Given the description of an element on the screen output the (x, y) to click on. 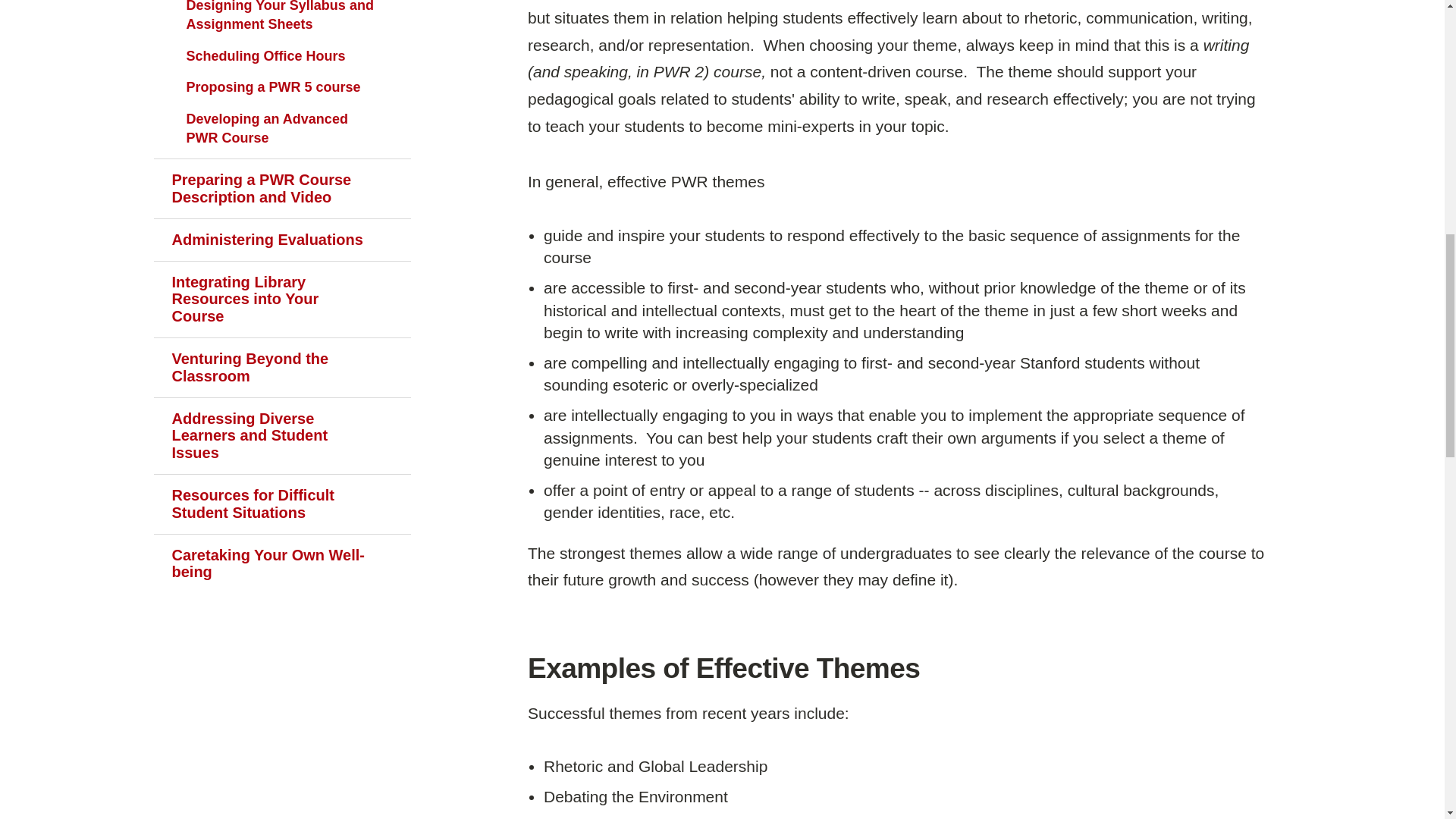
Caretaking Your Own Well-being (281, 563)
